Given the description of an element on the screen output the (x, y) to click on. 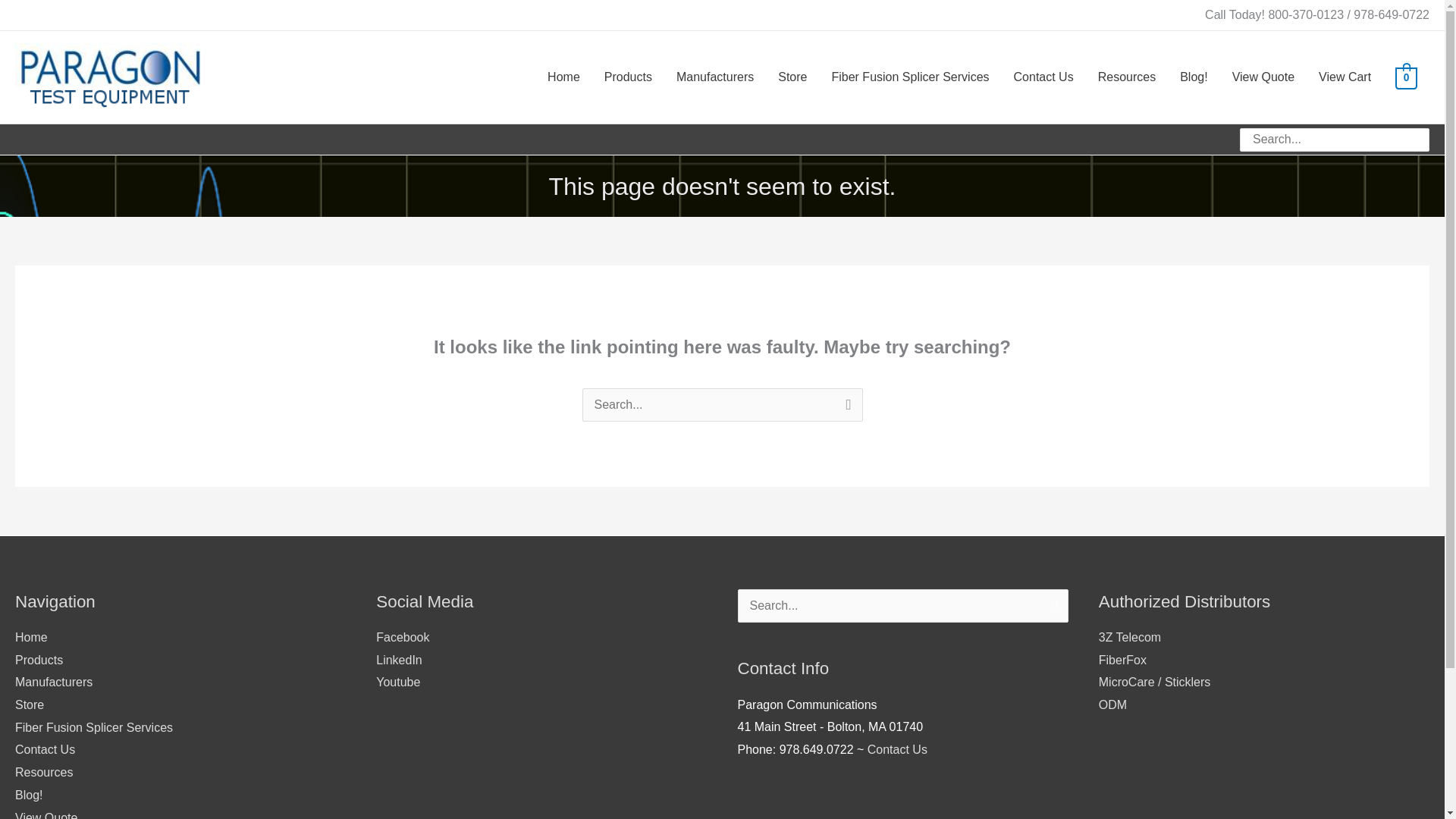
ODM (1112, 704)
Resources (43, 771)
Store (791, 77)
Facebook (402, 636)
Products (38, 659)
Fiber Fusion Splicer Services (93, 727)
Manufacturers (53, 681)
0 (1405, 76)
Blog! (1193, 77)
LinkedIn (398, 659)
Fiber Fusion Splicer Services (909, 77)
View Quote (45, 815)
View Quote (1263, 77)
FiberFox (1123, 659)
3Z Telecom (1129, 636)
